Given the description of an element on the screen output the (x, y) to click on. 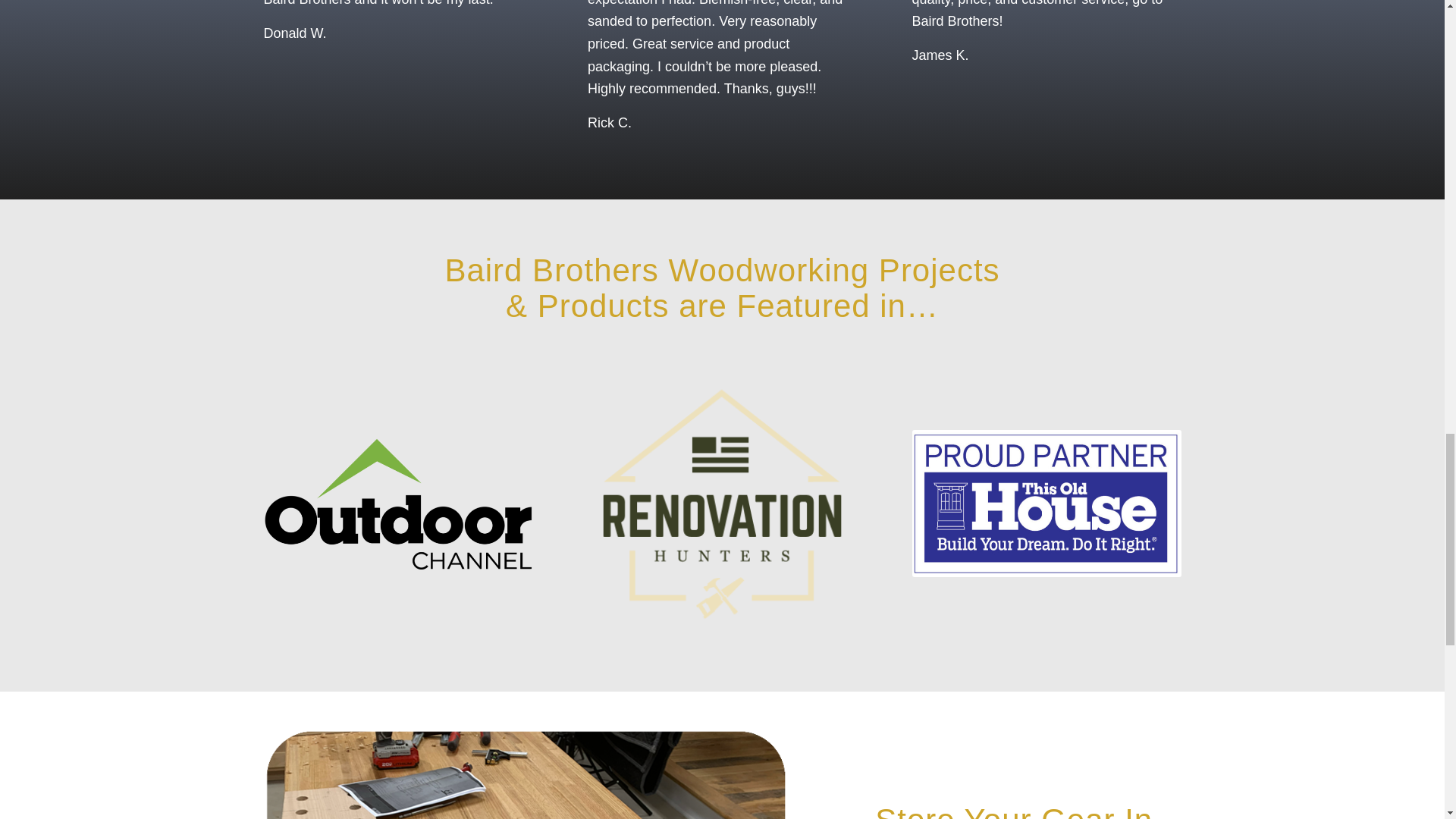
Renovation Hunters. (722, 503)
Fishing Rod Holder. (527, 774)
This Old House. (1046, 503)
The Outdoor Channel. (397, 503)
